Given the description of an element on the screen output the (x, y) to click on. 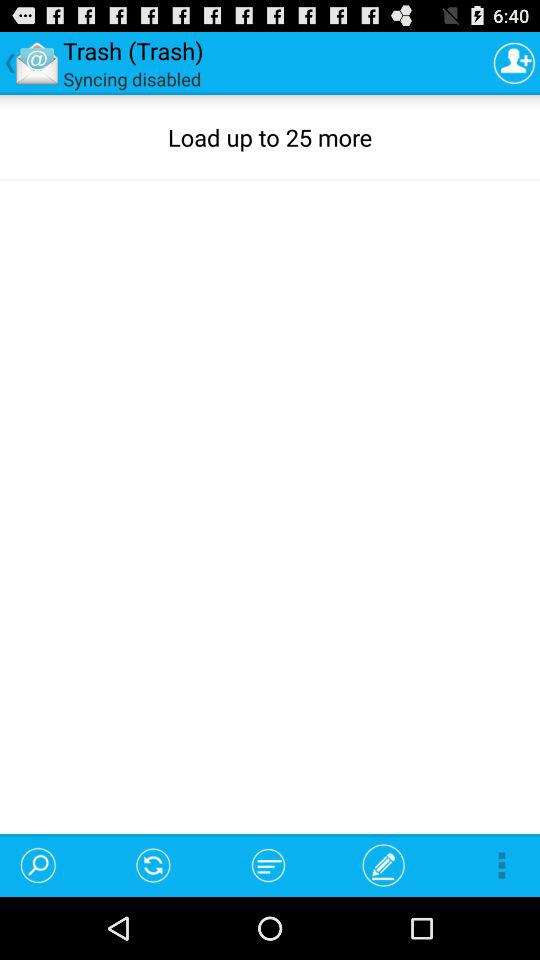
select item below the load up to app (268, 864)
